Given the description of an element on the screen output the (x, y) to click on. 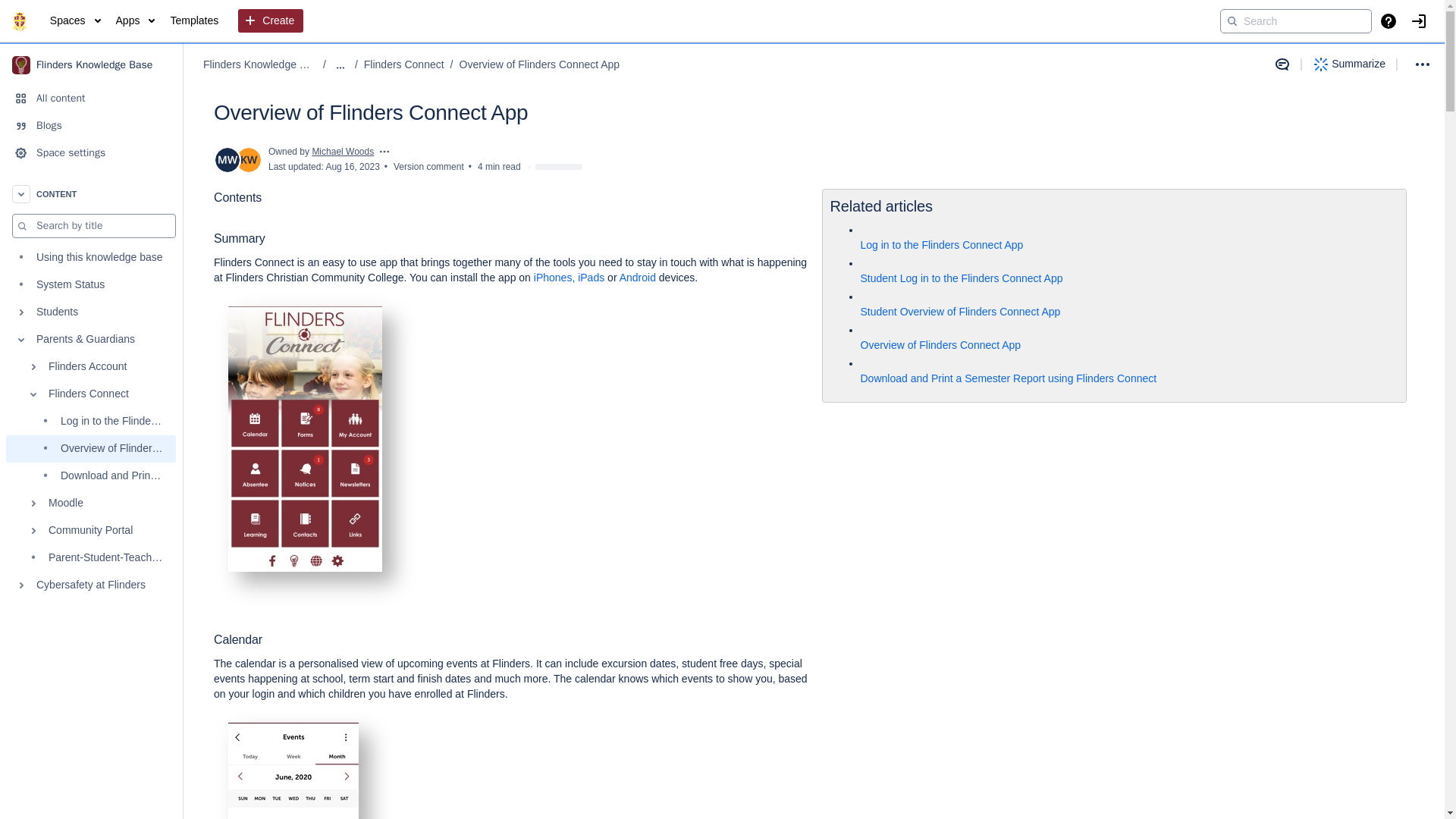
Flinders Knowledge Base (260, 64)
Space settings (90, 153)
Page (866, 296)
Page (866, 329)
Spaces (74, 21)
Create (270, 21)
Blogs (90, 125)
Apps (136, 21)
Flinders Connect (90, 393)
Templates (193, 21)
